Given the description of an element on the screen output the (x, y) to click on. 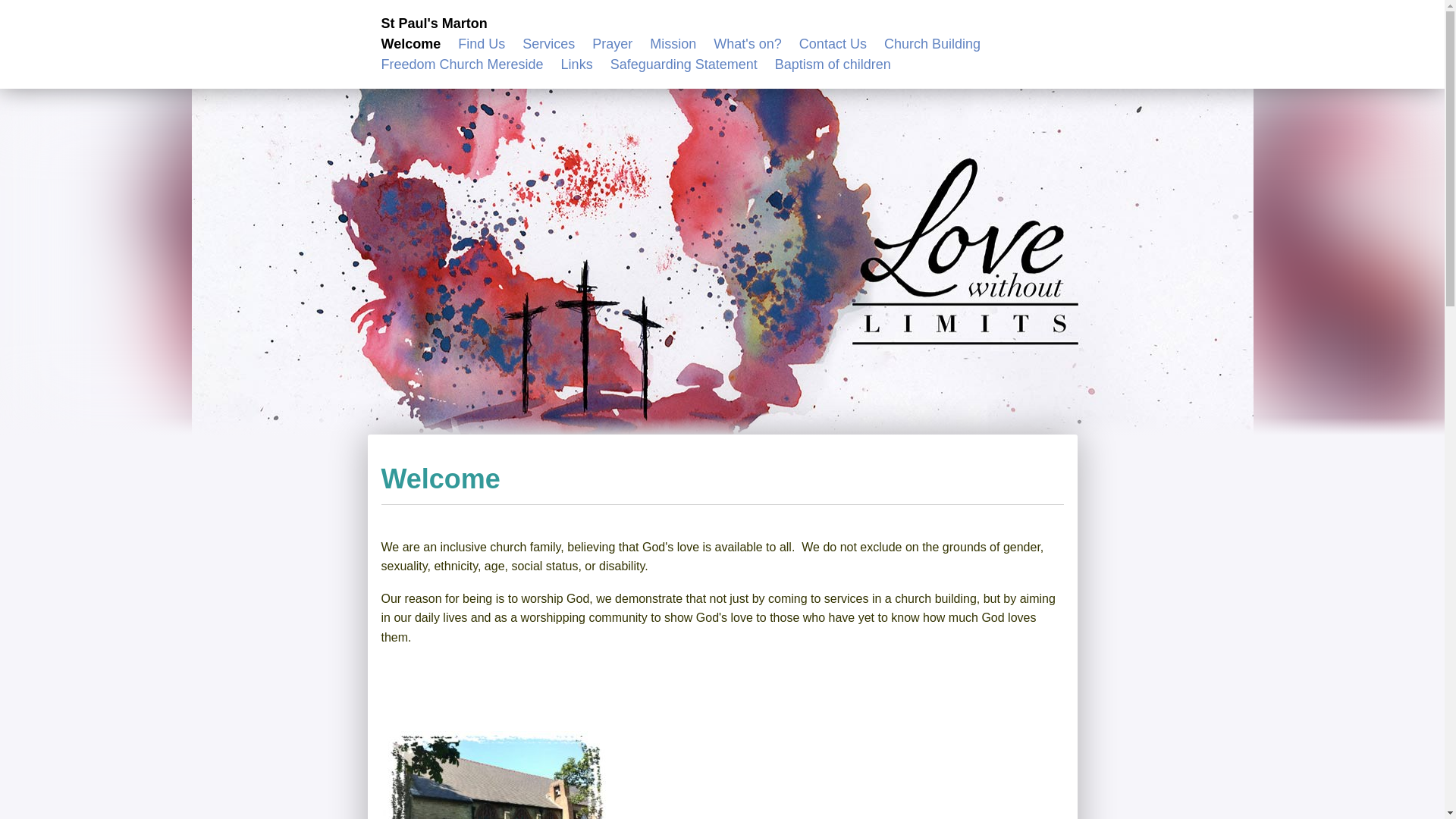
Safeguarding Statement (683, 64)
What's on? (746, 44)
Services (548, 44)
Contact Us (832, 44)
Find Us (481, 44)
Links (576, 64)
Baptism of children (832, 64)
Freedom Church Mereside (461, 64)
Prayer (611, 44)
Mission (672, 44)
